Given the description of an element on the screen output the (x, y) to click on. 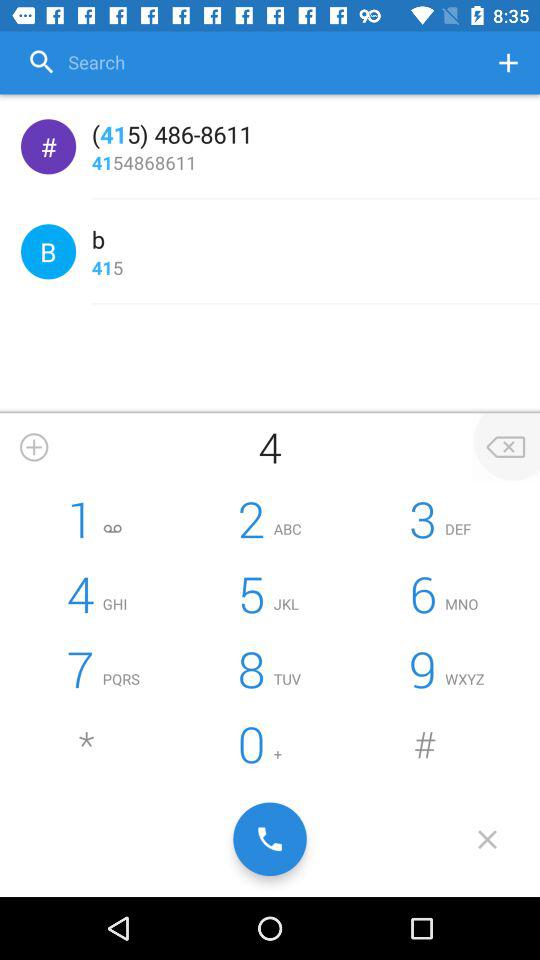
search (249, 62)
